Given the description of an element on the screen output the (x, y) to click on. 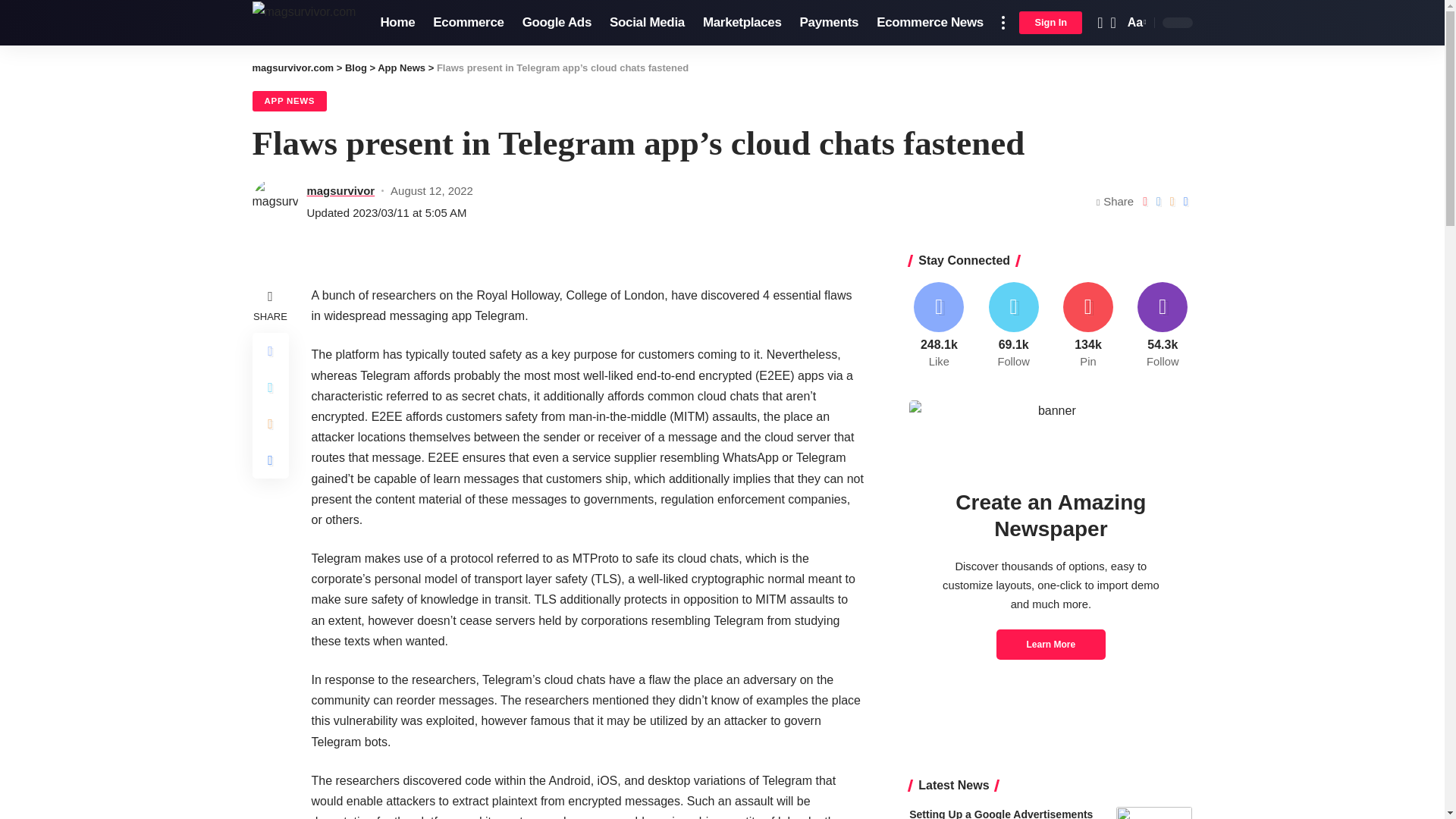
Ecommerce (467, 22)
Social Media (646, 22)
Payments (828, 22)
Marketplaces (742, 22)
Sign In (1050, 22)
Aa (1135, 22)
Home (397, 22)
magsurvivor.com (303, 22)
Ecommerce News (929, 22)
Google Ads (556, 22)
